Given the description of an element on the screen output the (x, y) to click on. 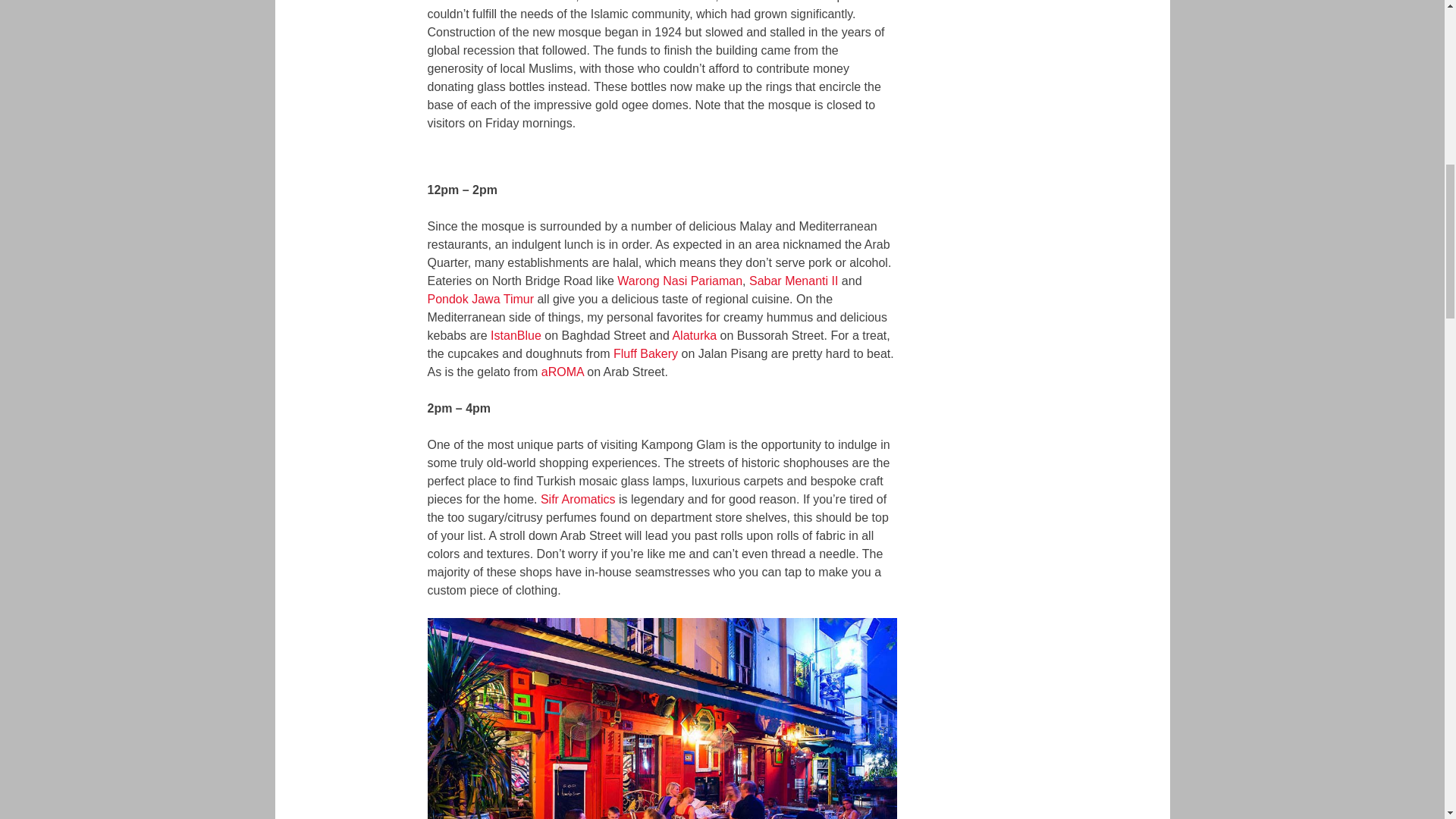
Warong Nasi Pariaman (679, 280)
Fluff Bakery (645, 353)
IstanBlue (515, 335)
aROMA (562, 371)
Pondok Jawa Timur (481, 298)
Alaturka (693, 335)
Sifr Aromatics (577, 499)
Sabar Menanti II (793, 280)
